Given the description of an element on the screen output the (x, y) to click on. 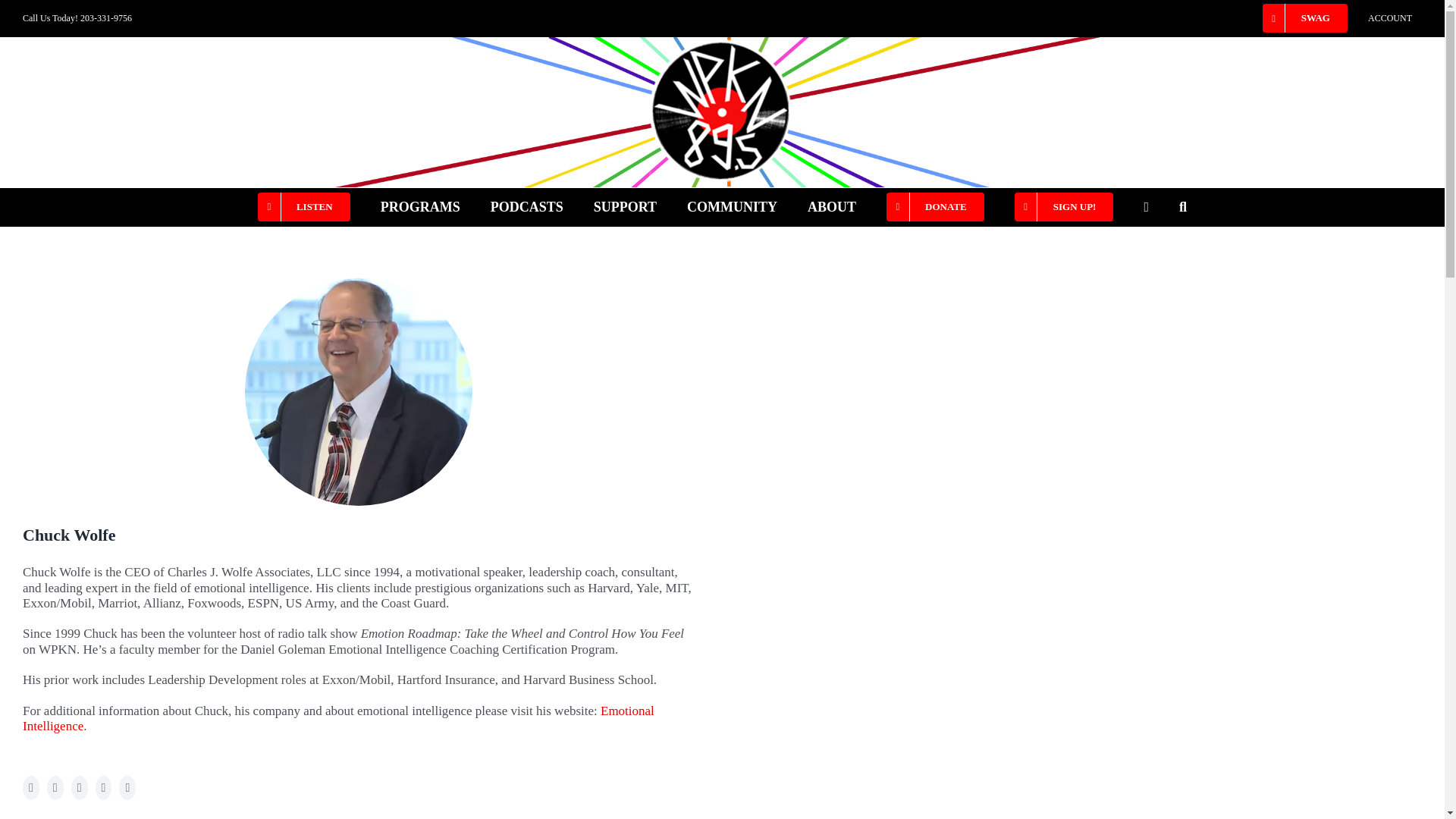
LISTEN (303, 207)
Accessibility Tools (1424, 95)
PROGRAMS (420, 207)
ACCOUNT (1390, 18)
ABOUT (832, 207)
COMMUNITY (732, 207)
SUPPORT (625, 207)
SWAG (1304, 18)
PODCASTS (526, 207)
